Given the description of an element on the screen output the (x, y) to click on. 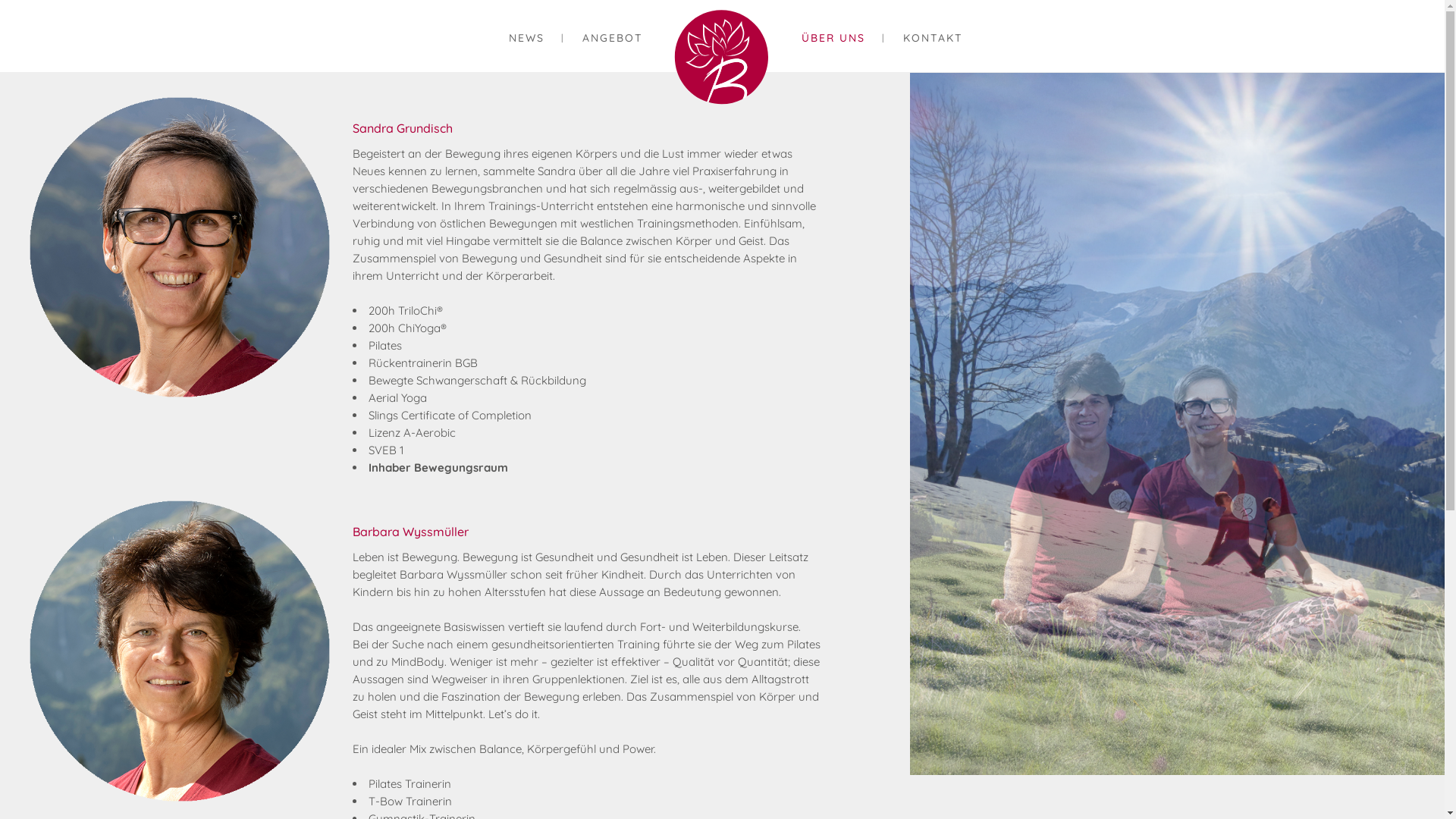
BR_sandra Element type: hover (179, 247)
BR_barbara Element type: hover (179, 650)
